Given the description of an element on the screen output the (x, y) to click on. 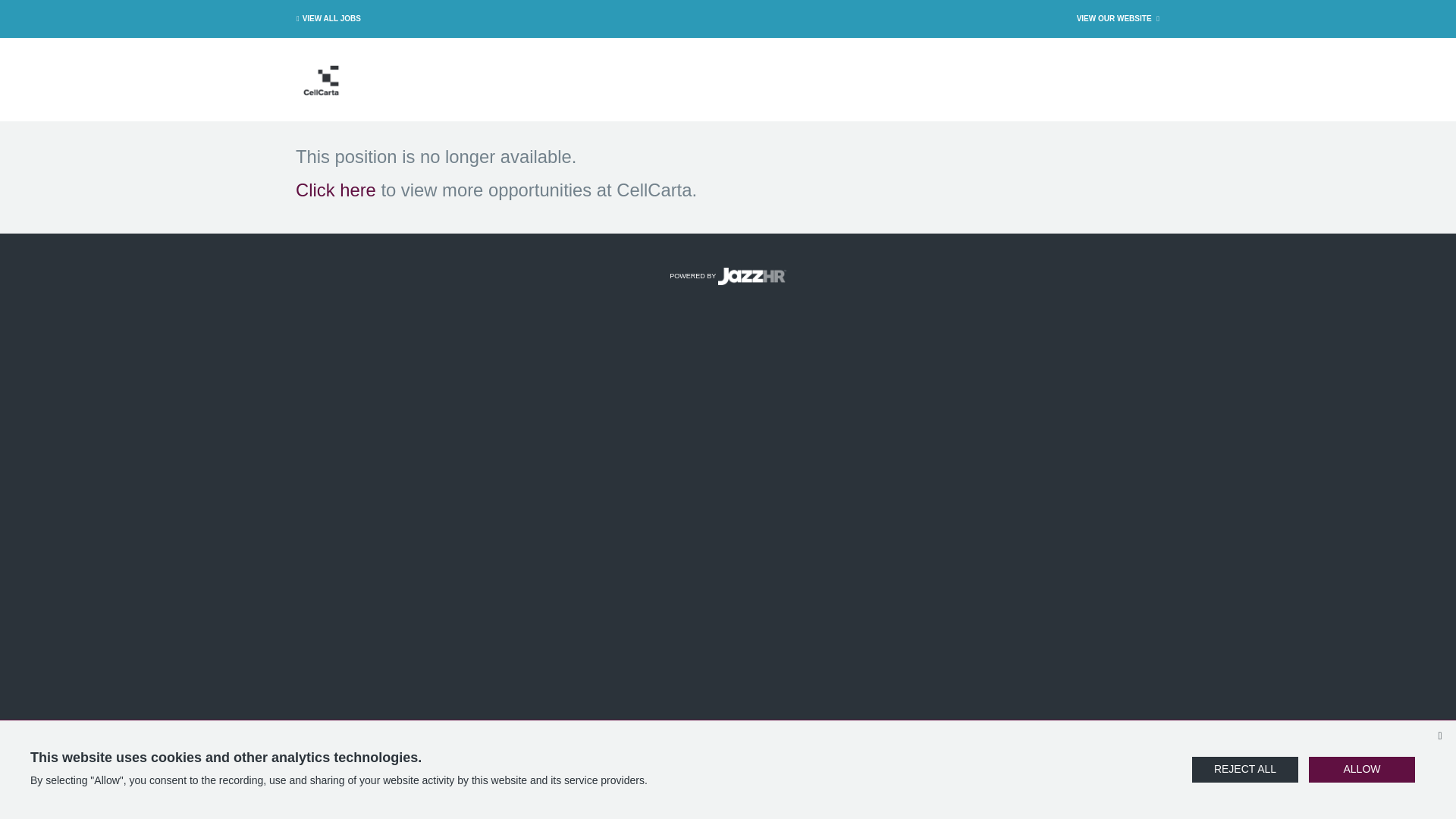
VIEW ALL JOBS (326, 18)
POWERED BY (727, 275)
Click here (335, 189)
VIEW OUR WEBSITE (1119, 18)
